Given the description of an element on the screen output the (x, y) to click on. 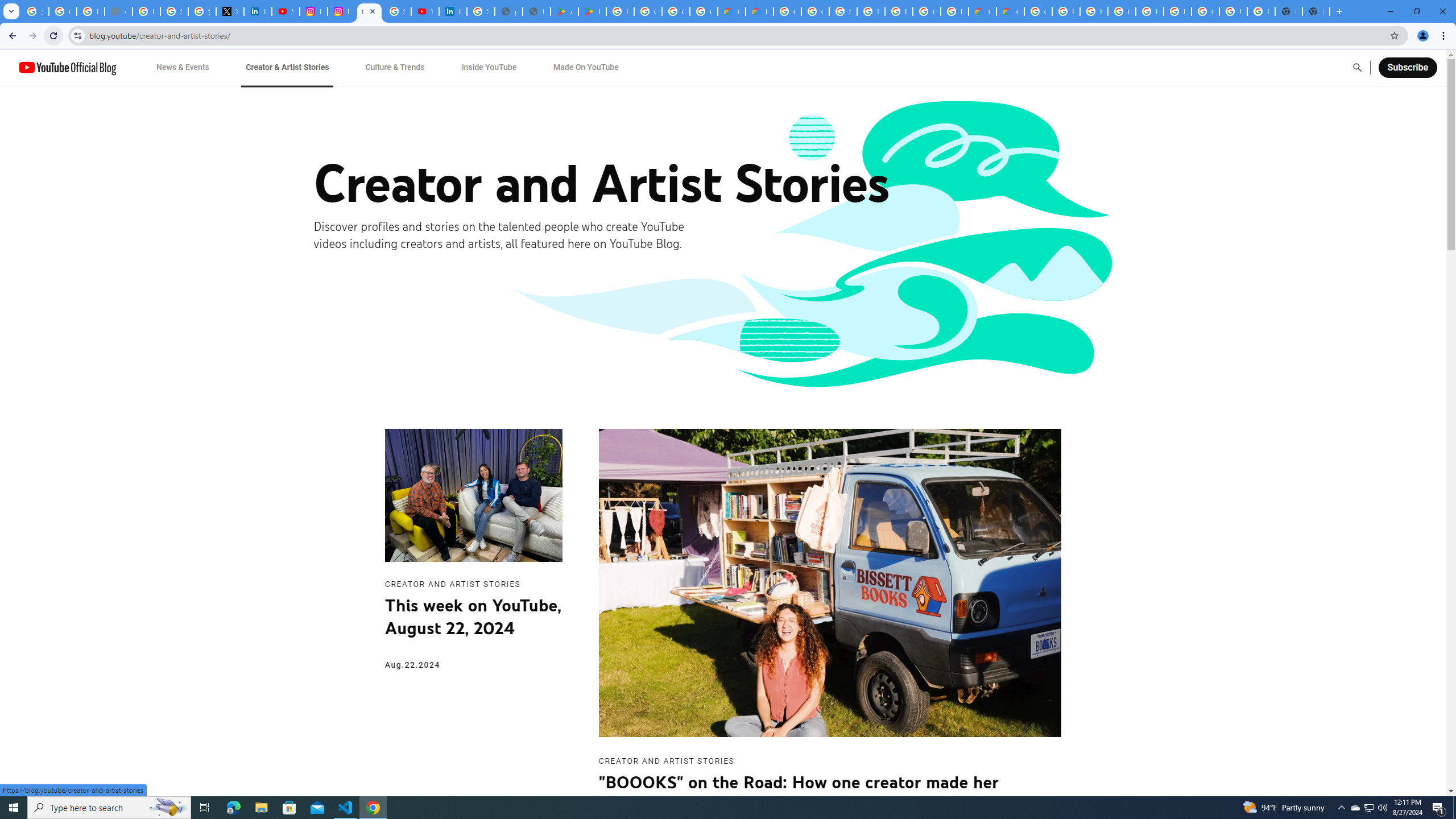
Sign in - Google Accounts (174, 11)
Open Search (1357, 67)
Google Cloud Platform (1205, 11)
Sign in - Google Accounts (480, 11)
Customer Care | Google Cloud (982, 11)
Android Apps on Google Play (564, 11)
Creator & Artist Stories (287, 67)
PAW Patrol Rescue World - Apps on Google Play (592, 11)
